Given the description of an element on the screen output the (x, y) to click on. 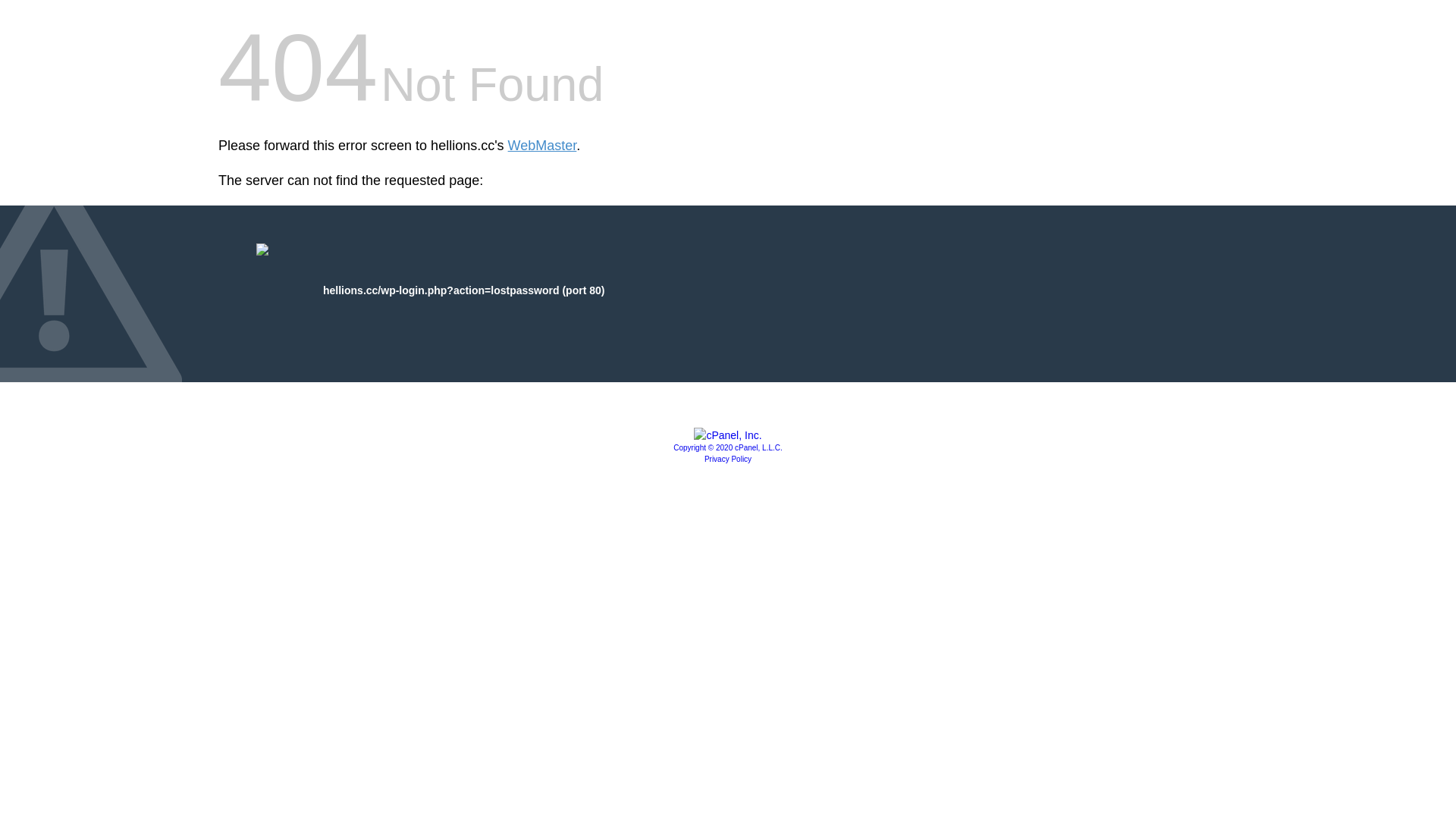
cPanel, Inc. Element type: hover (727, 435)
WebMaster Element type: text (542, 145)
Privacy Policy Element type: text (727, 459)
